Given the description of an element on the screen output the (x, y) to click on. 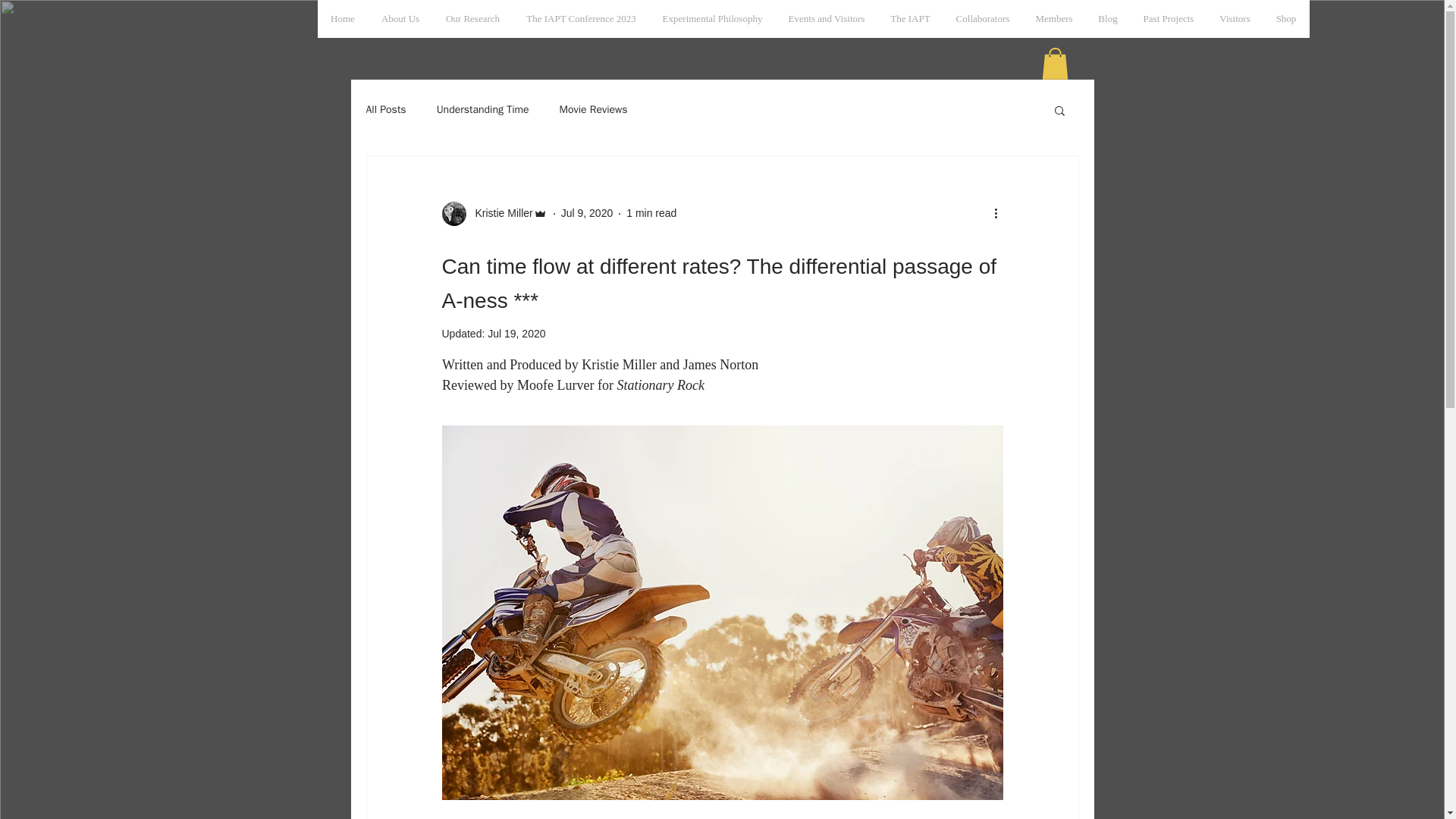
Blog (1108, 18)
Experimental Philosophy (711, 18)
Events and Visitors (825, 18)
Jul 19, 2020 (515, 333)
The IAPT (910, 18)
Movie Reviews (593, 110)
Kristie Miller (494, 213)
Members (1053, 18)
Our Research (472, 18)
Visitors (1235, 18)
All Posts (385, 110)
1 min read (651, 213)
Home (342, 18)
Shop (1285, 18)
Understanding Time (482, 110)
